Given the description of an element on the screen output the (x, y) to click on. 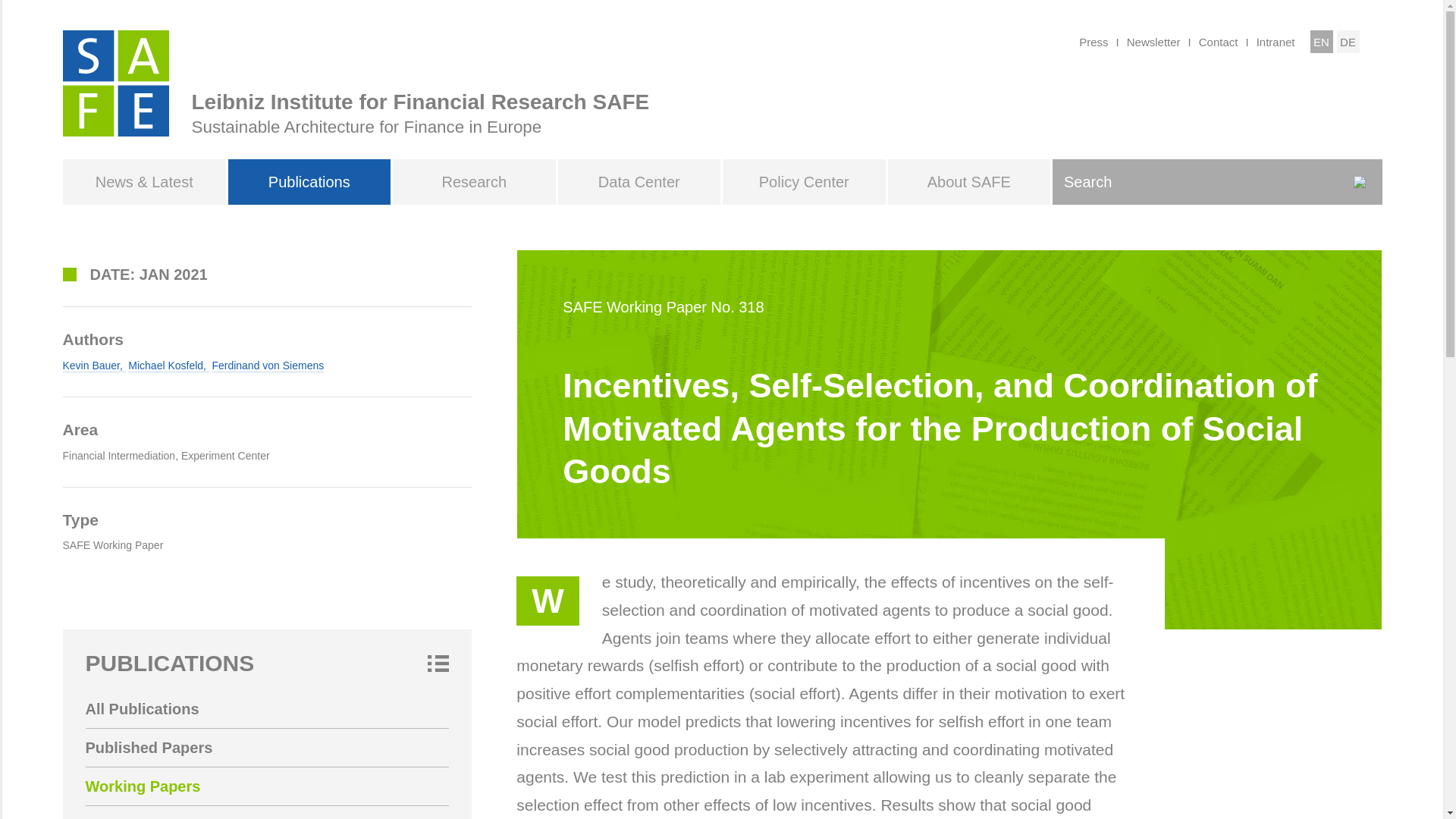
All Publications (266, 709)
Newsletter (1153, 41)
Contact (1218, 41)
Working Papers (266, 786)
Intranet (1275, 41)
Press (1093, 41)
Published Papers (266, 747)
Policy Publications (266, 812)
